Given the description of an element on the screen output the (x, y) to click on. 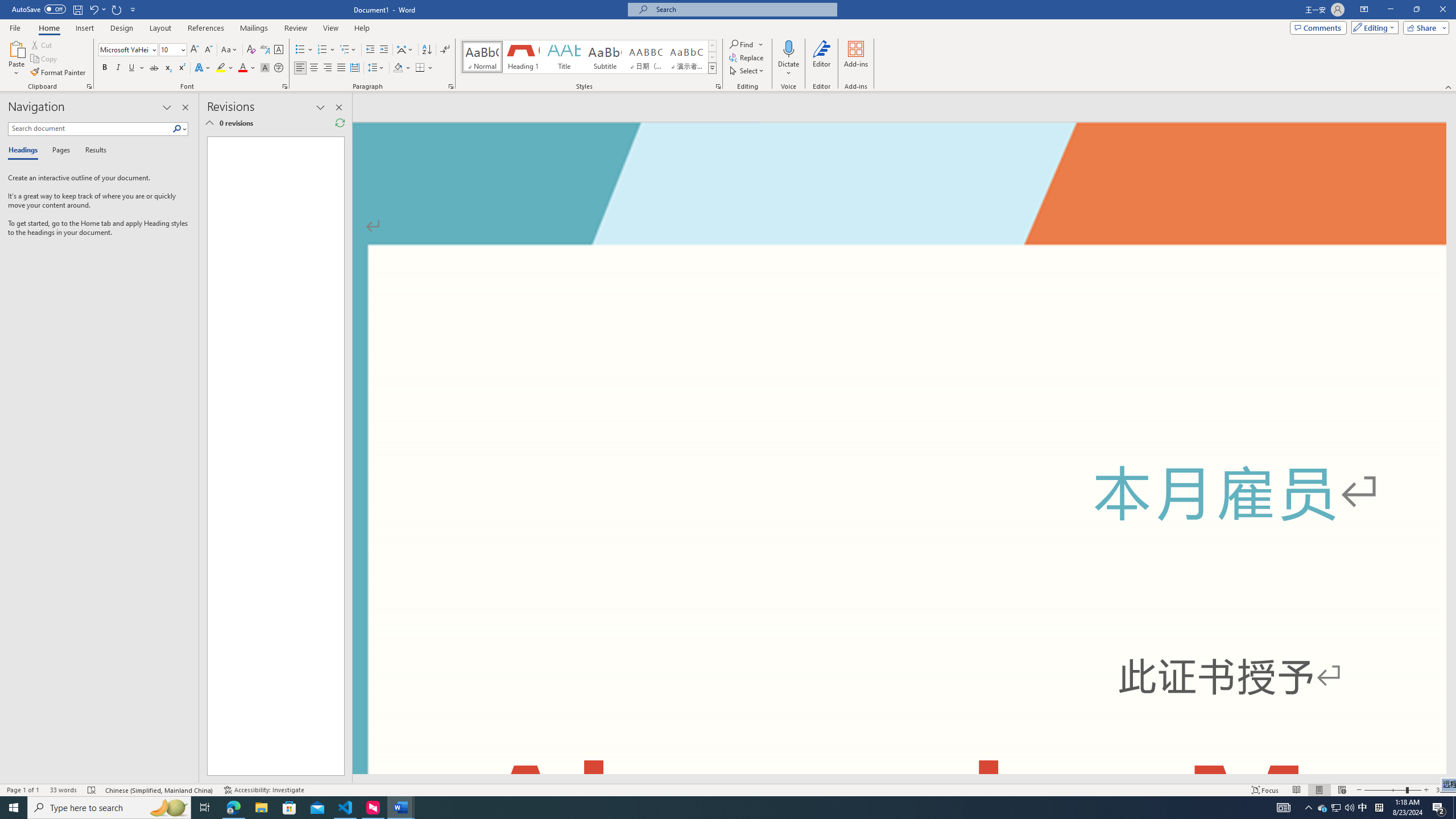
Font Color Red (241, 67)
